Given the description of an element on the screen output the (x, y) to click on. 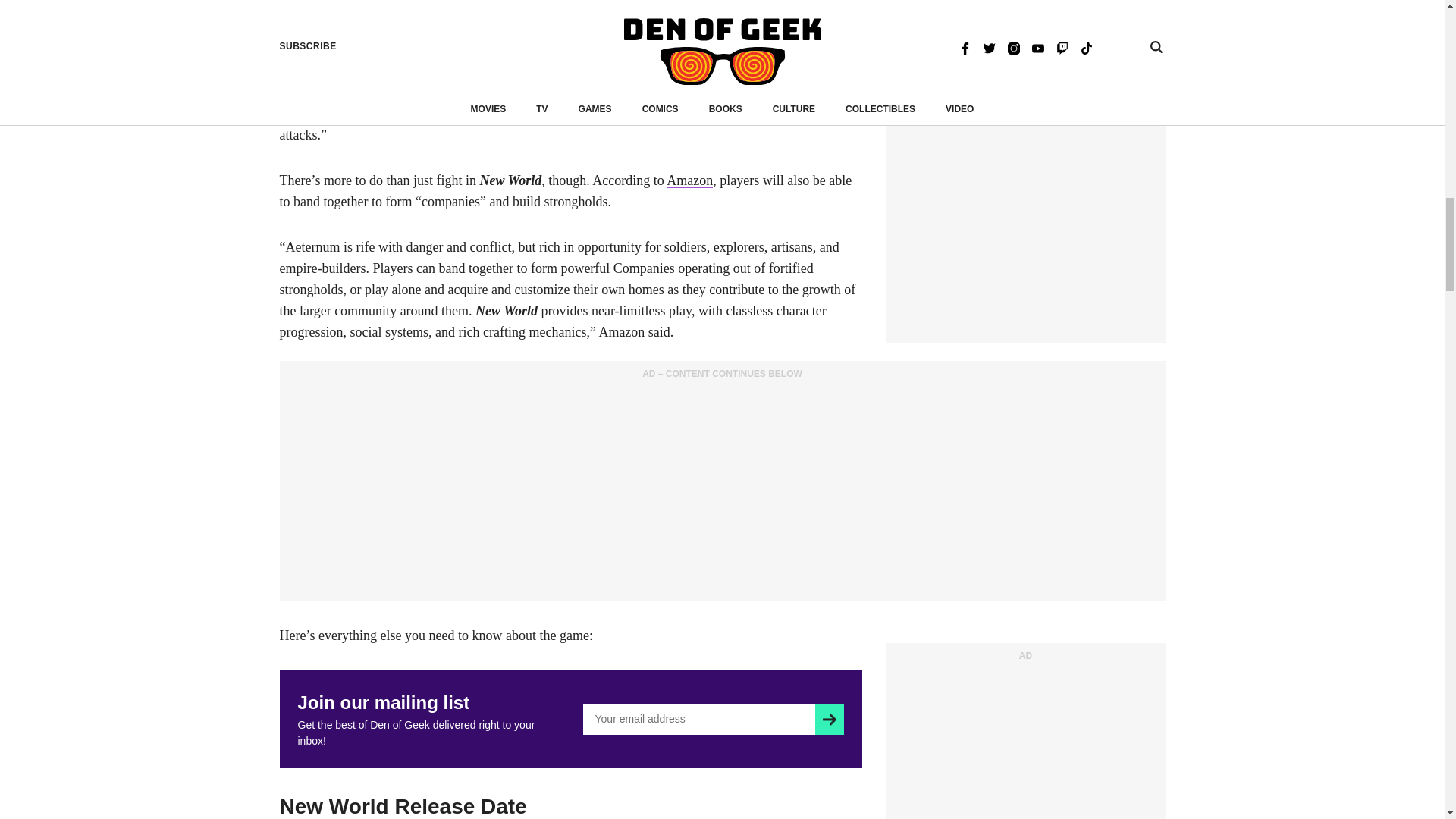
Amazon (689, 180)
Everquest (438, 6)
World of Warcraft (329, 6)
